Given the description of an element on the screen output the (x, y) to click on. 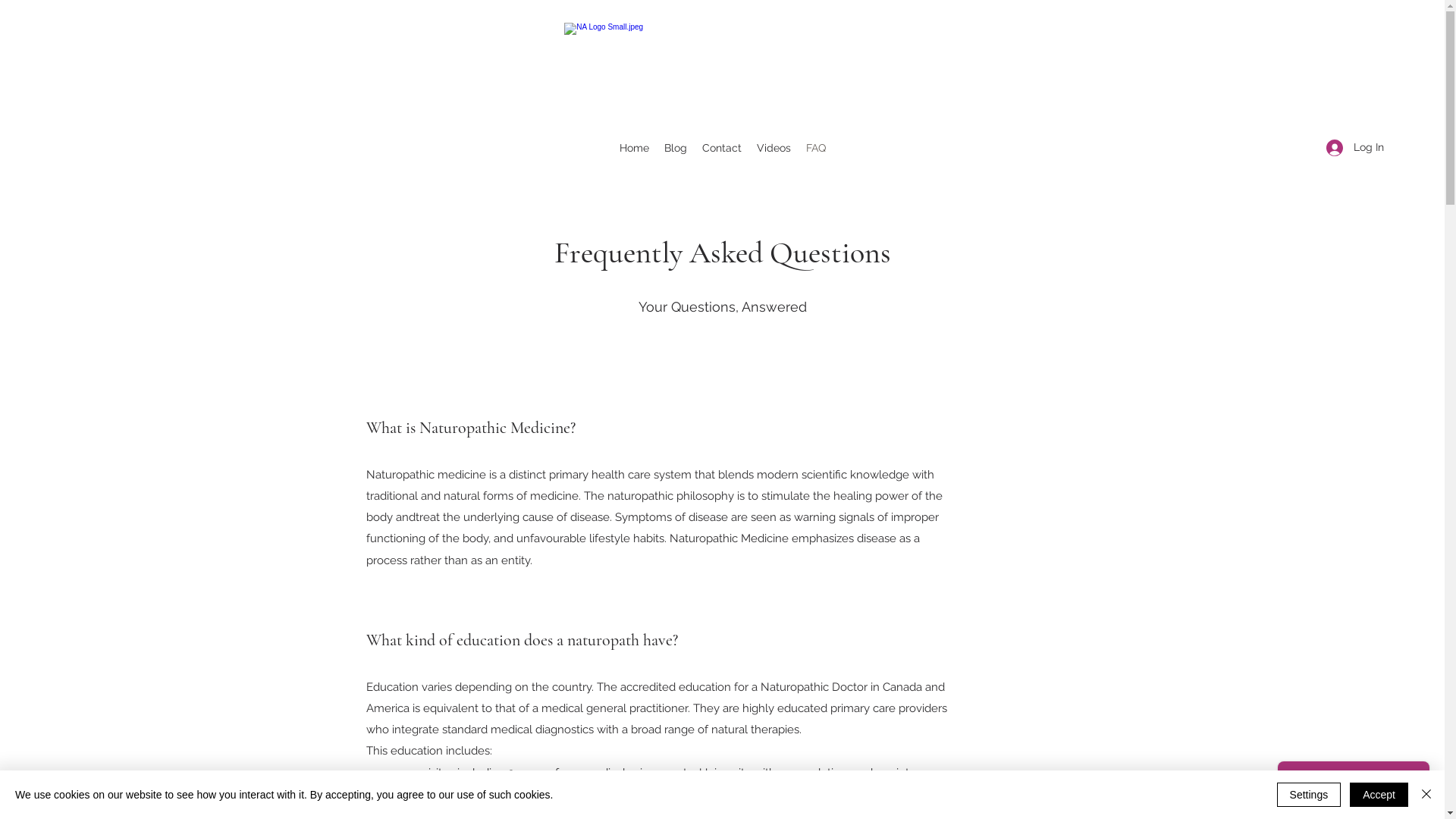
Videos Element type: text (773, 147)
FAQ Element type: text (814, 147)
Accept Element type: text (1378, 794)
Log In Element type: text (1349, 147)
Contact Element type: text (721, 147)
Home Element type: text (633, 147)
Blog Element type: text (675, 147)
Settings Element type: text (1309, 794)
